Given the description of an element on the screen output the (x, y) to click on. 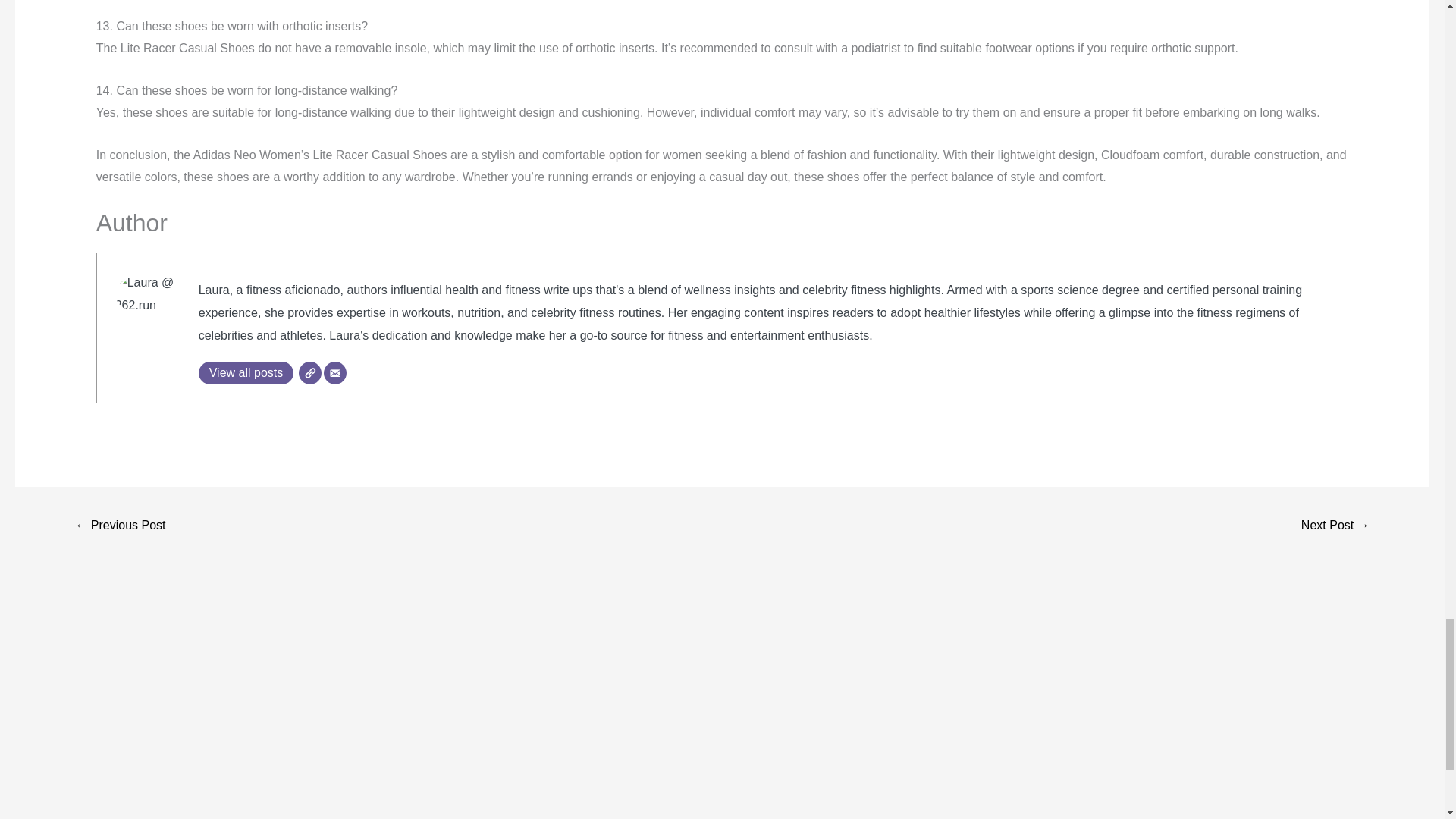
Me Dan Calambres En La Planta Del Pie (119, 526)
What Incline On Treadmill To Simulate Outdoor Running (1334, 526)
View all posts (246, 372)
View all posts (246, 372)
